Given the description of an element on the screen output the (x, y) to click on. 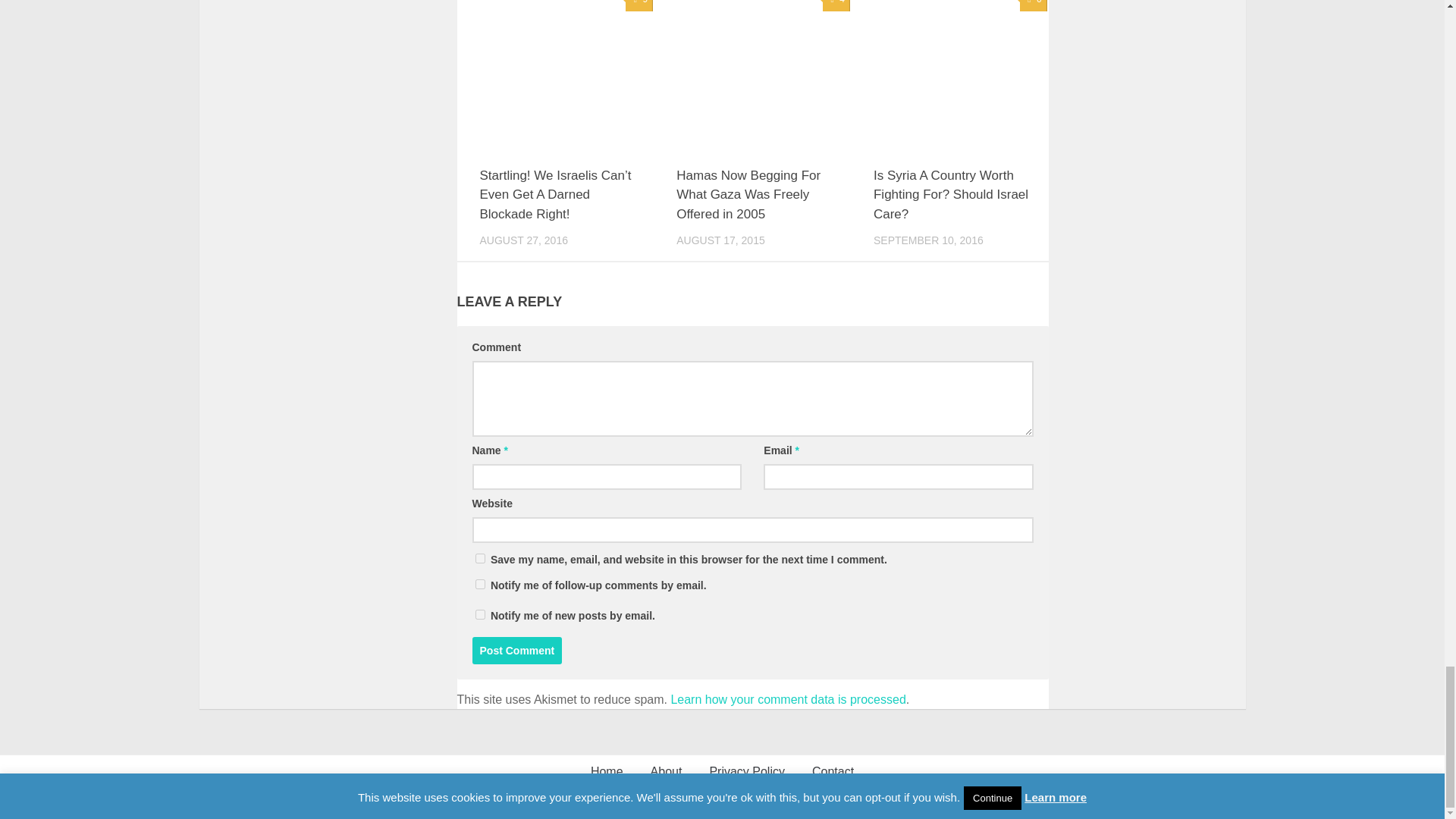
subscribe (479, 614)
yes (479, 558)
subscribe (479, 583)
Post Comment (516, 650)
